Given the description of an element on the screen output the (x, y) to click on. 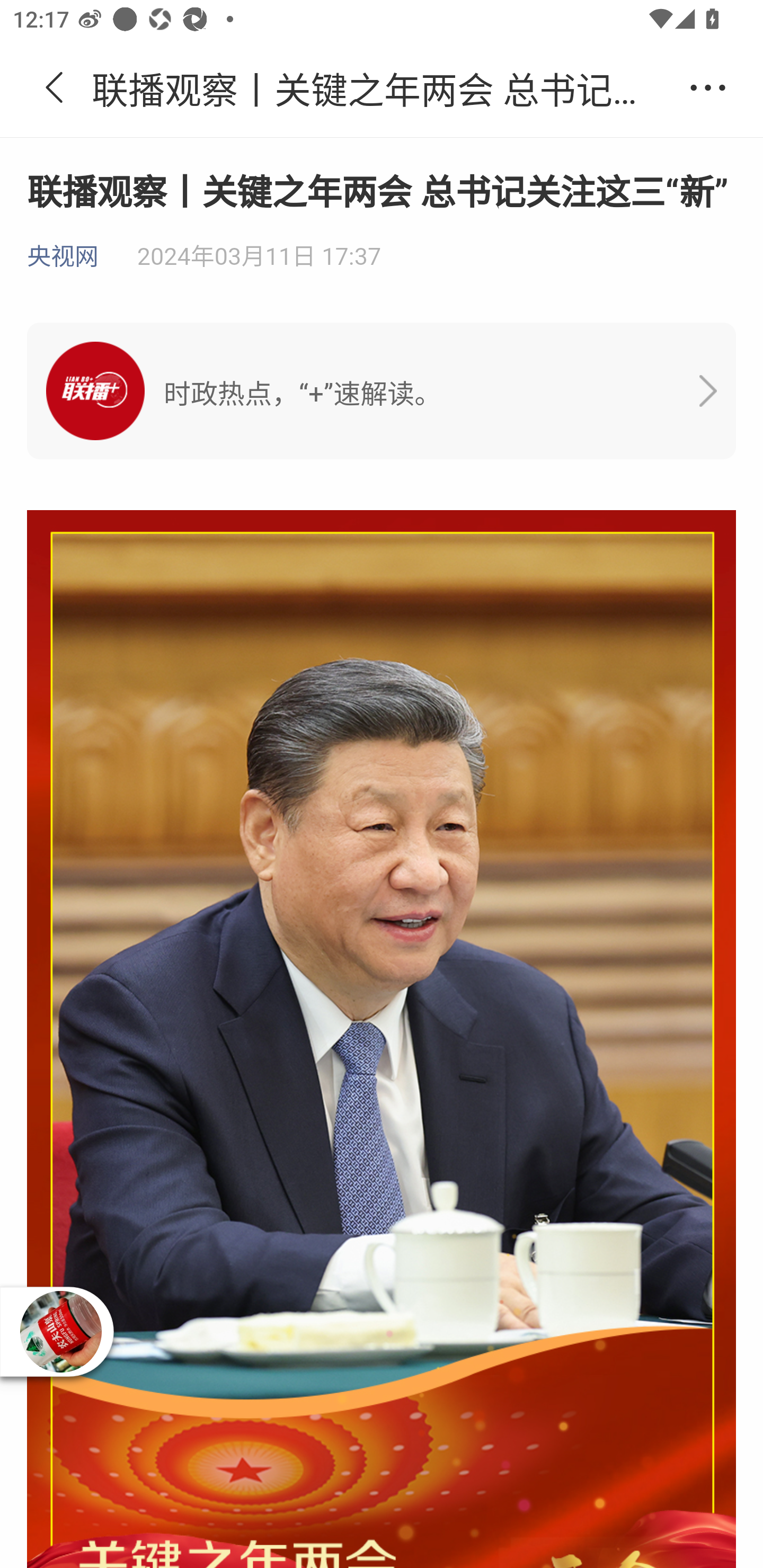
联播观察丨关键之年两会 总书记关注这三“新” (381, 87)
 返回 (54, 87)
 更多 (707, 87)
央视网 (62, 257)
时政热点，“+”速解读。 1617256979184_623 时政热点，“+”速解读。 (381, 390)
播放器 (60, 1331)
